Given the description of an element on the screen output the (x, y) to click on. 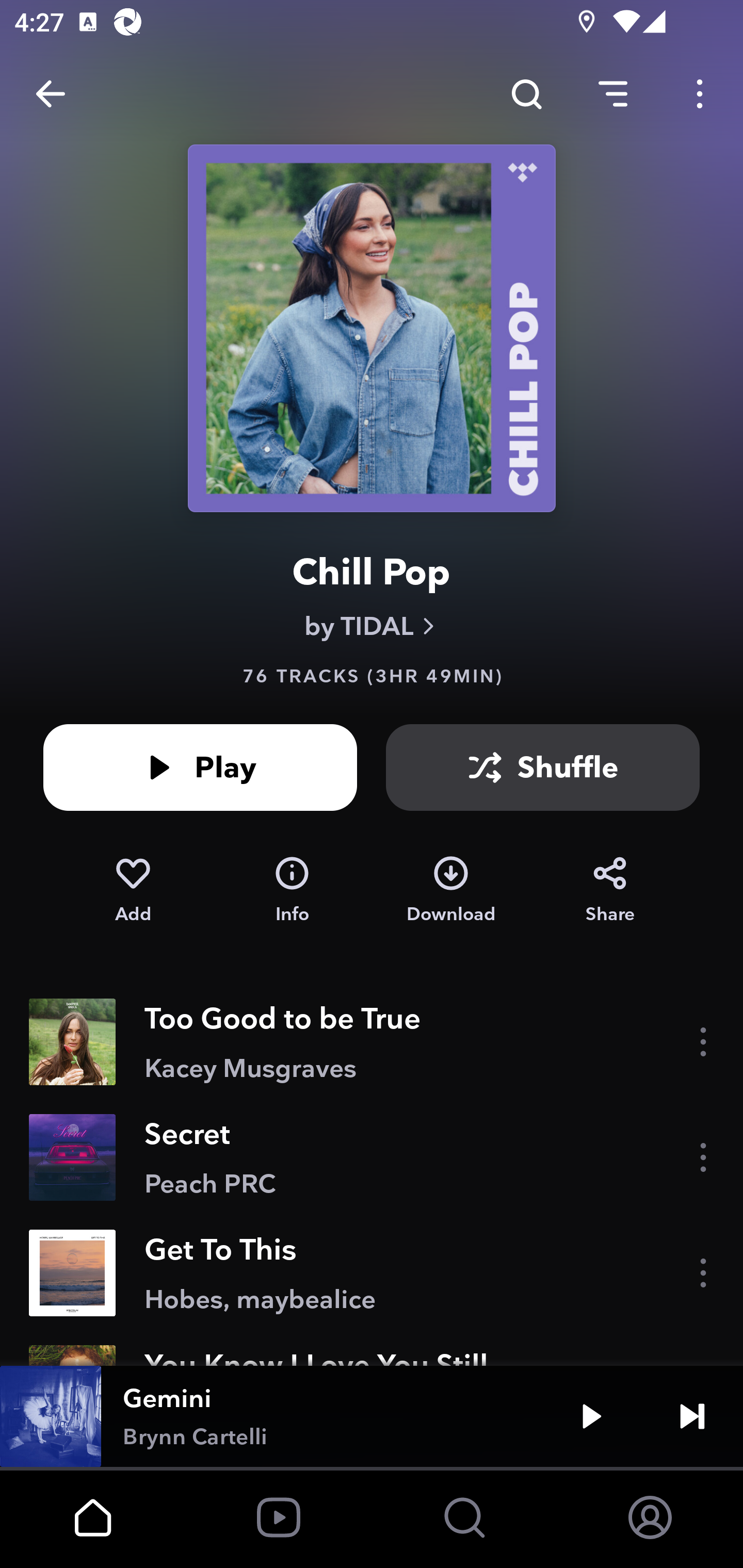
Back (50, 93)
Search (525, 93)
Sorting (612, 93)
Options (699, 93)
by TIDAL (371, 625)
Play (200, 767)
Shuffle (542, 767)
Add (132, 890)
Info (291, 890)
Download (450, 890)
Share (609, 890)
Too Good to be True Kacey Musgraves (371, 1041)
Secret Peach PRC (371, 1157)
Get To This Hobes, maybealice (371, 1273)
Gemini Brynn Cartelli Play (371, 1416)
Play (590, 1416)
